Given the description of an element on the screen output the (x, y) to click on. 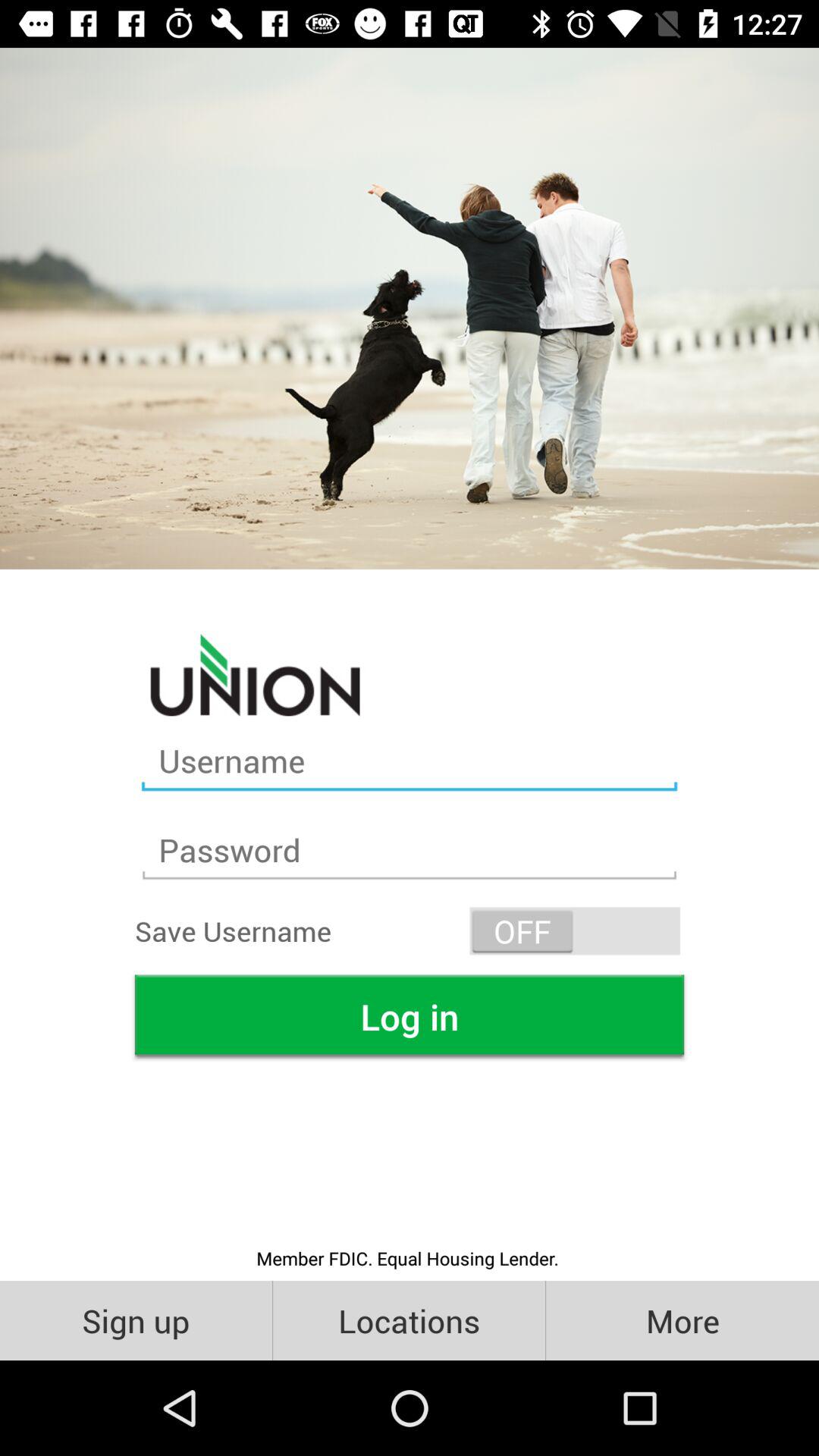
scroll to the locations (409, 1320)
